Given the description of an element on the screen output the (x, y) to click on. 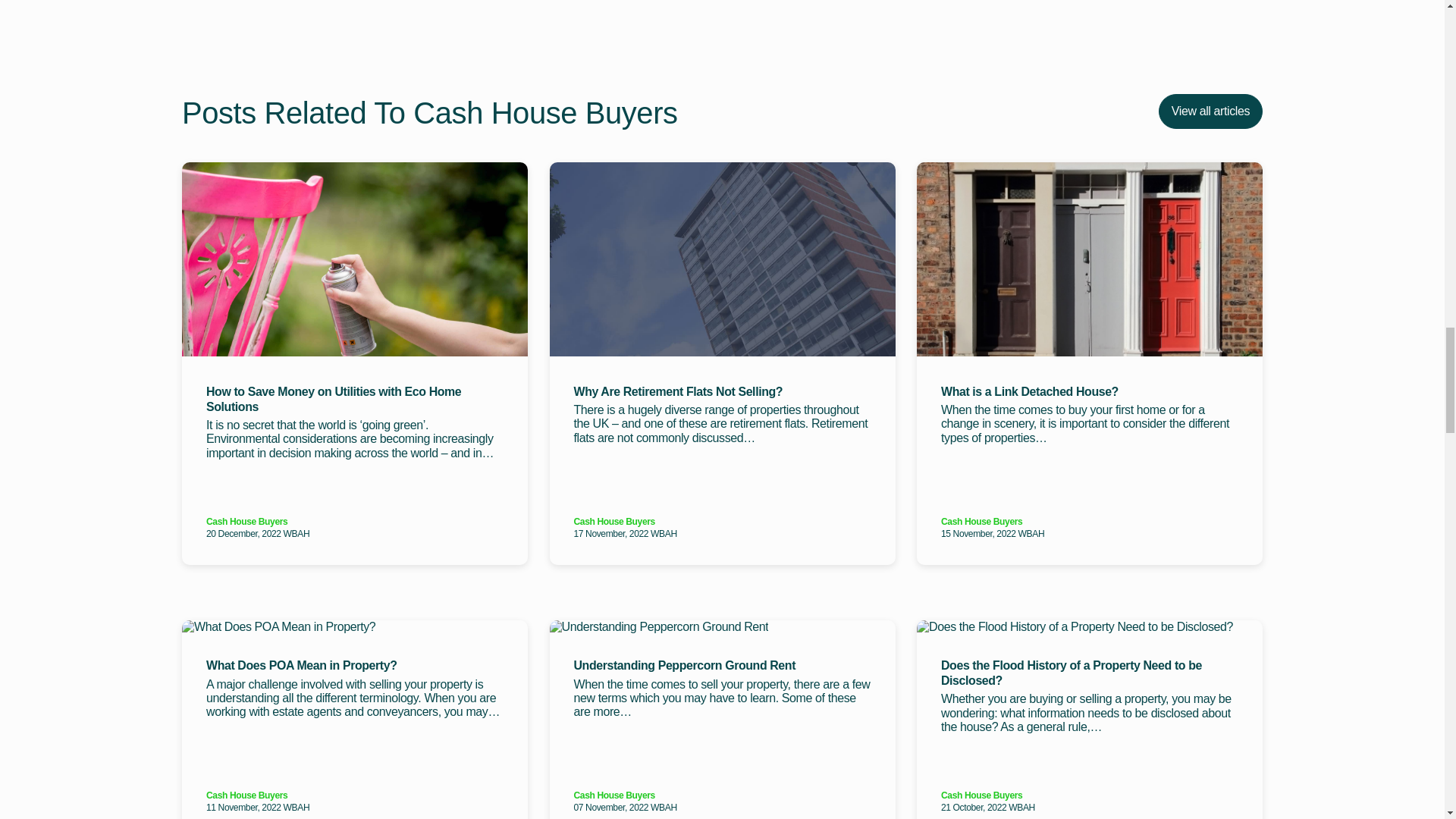
Cash House Buyers (721, 522)
Does the Flood History of a Property Need to be Disclosed? (1089, 673)
Cash House Buyers (354, 522)
How to Save Money on Utilities with Eco Home Solutions (354, 399)
Understanding Peppercorn Ground Rent (721, 665)
Why Are Retirement Flats Not Selling? (721, 391)
What is a Link Detached House? (1089, 391)
What Does POA Mean in Property? (354, 665)
Cash House Buyers (354, 796)
Cash House Buyers (1089, 522)
